Given the description of an element on the screen output the (x, y) to click on. 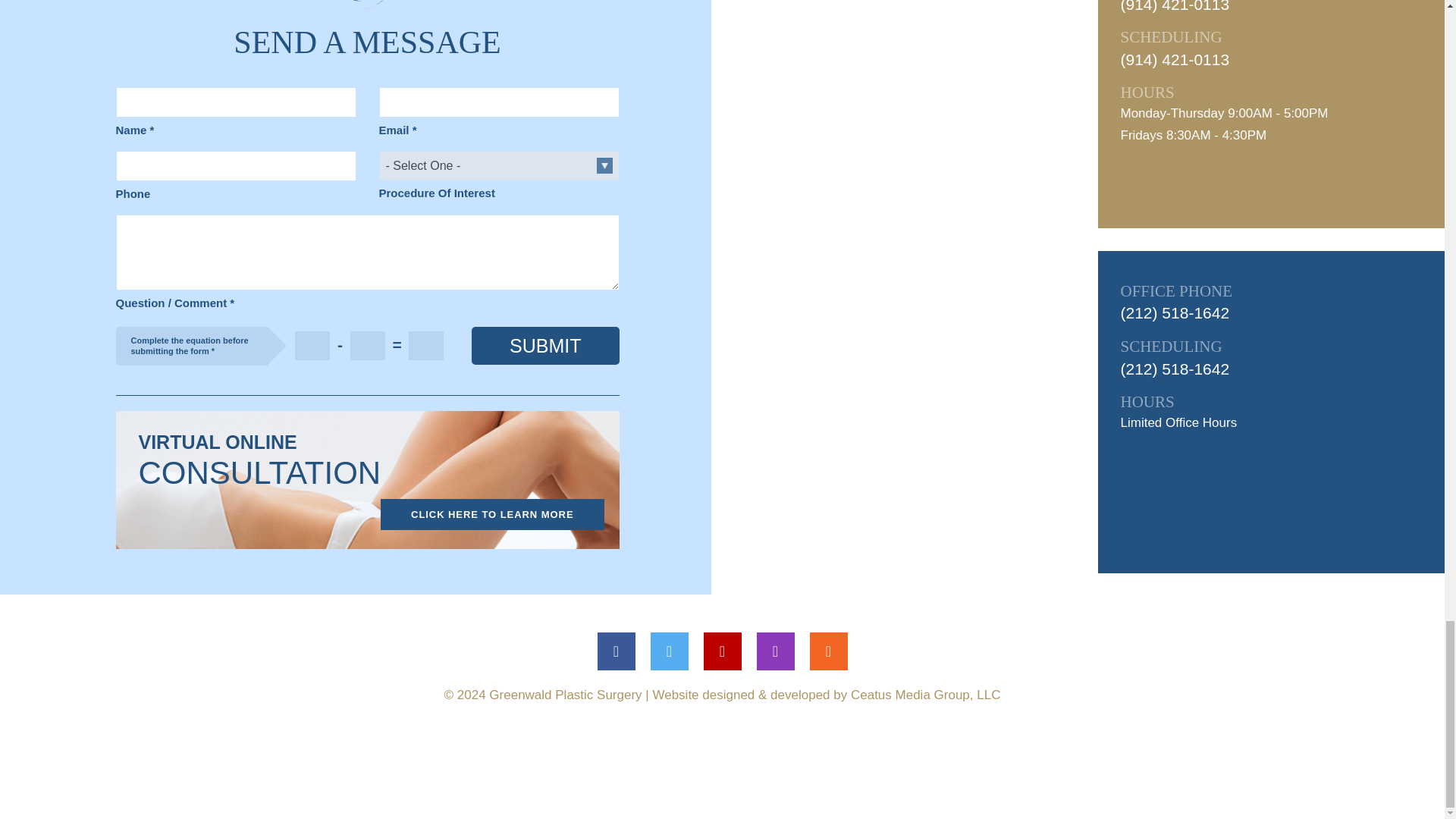
Submit (544, 345)
